Given the description of an element on the screen output the (x, y) to click on. 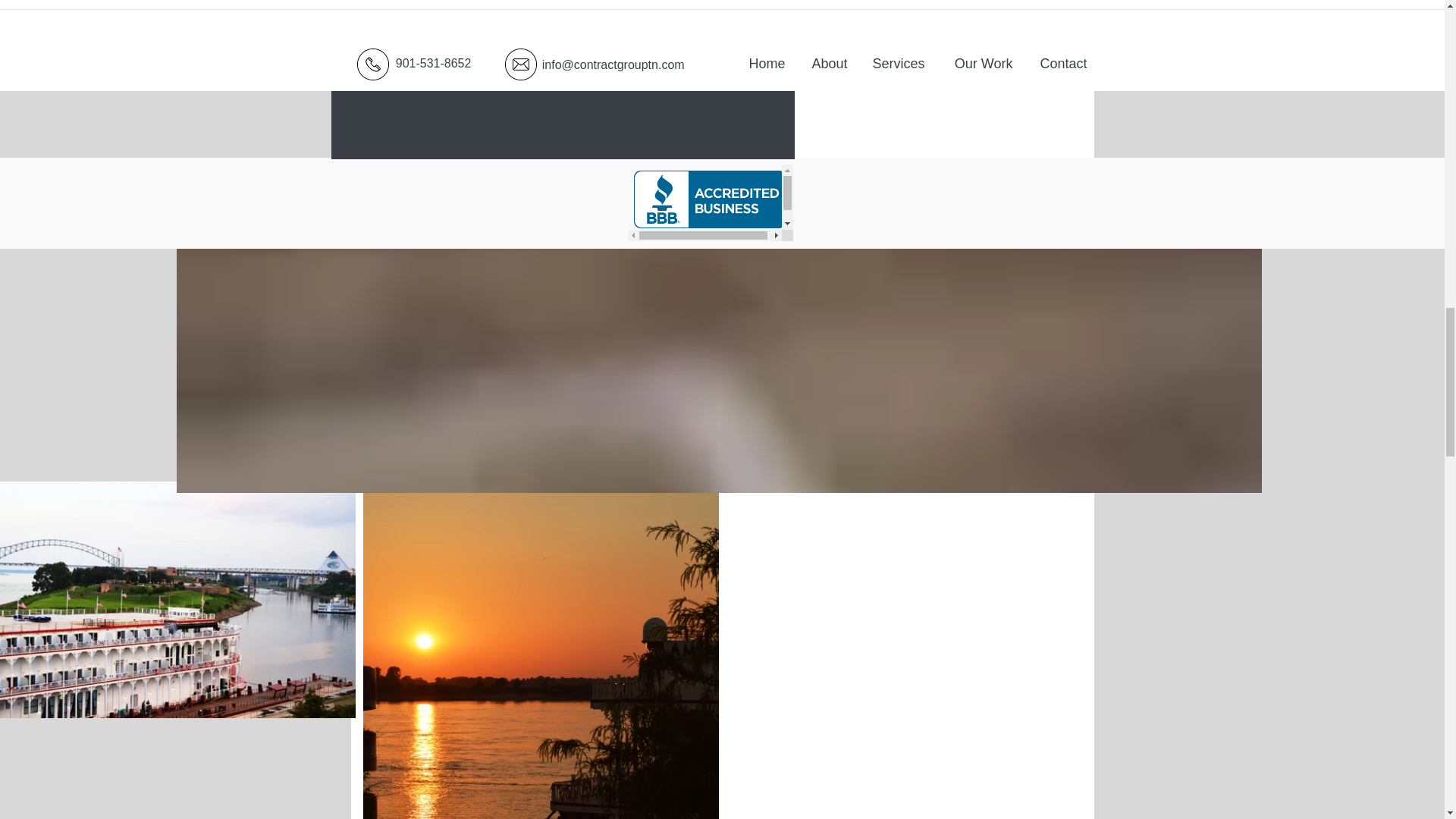
Embedded Content (710, 202)
